Given the description of an element on the screen output the (x, y) to click on. 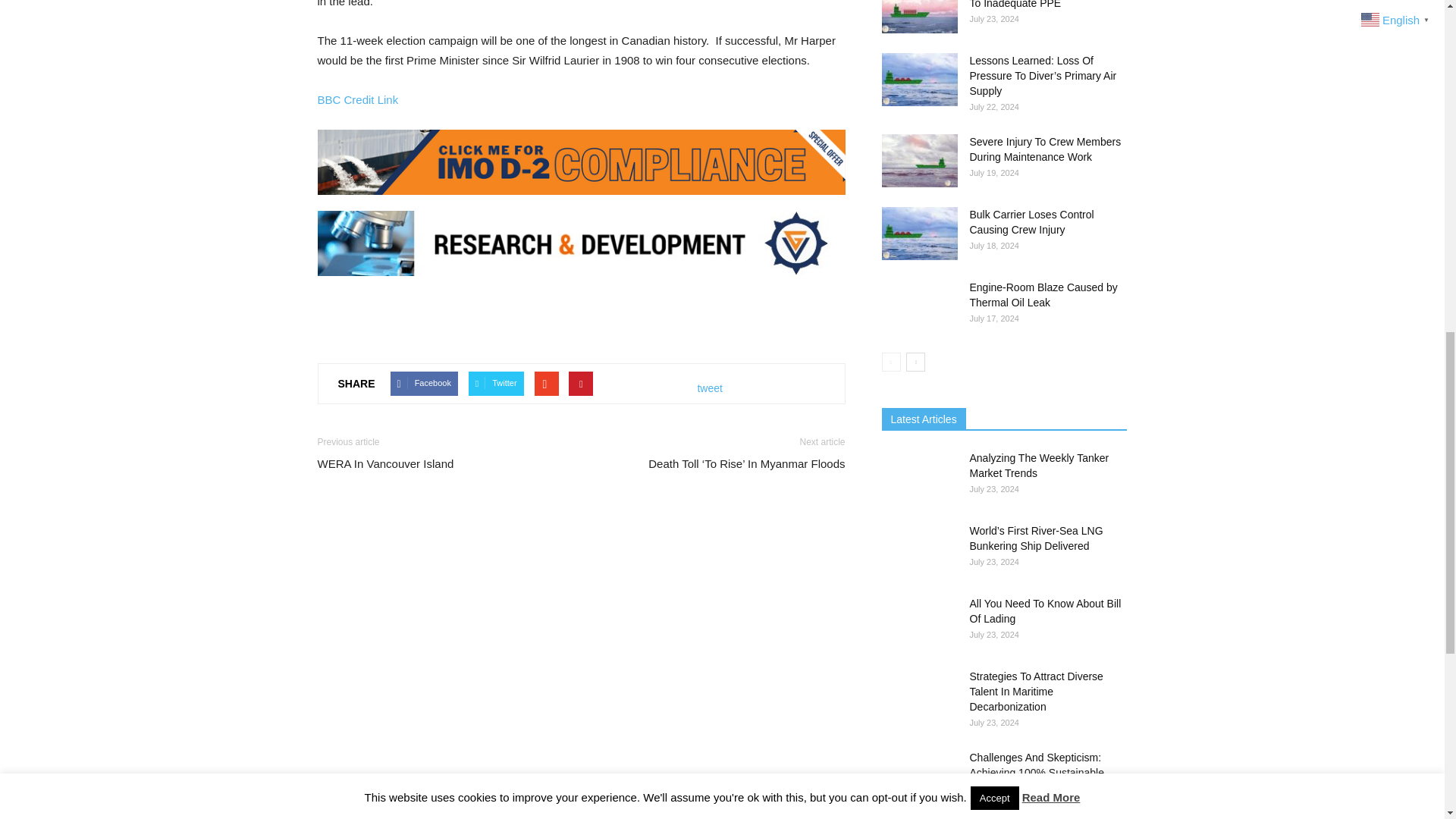
VL6new (580, 243)
